Given the description of an element on the screen output the (x, y) to click on. 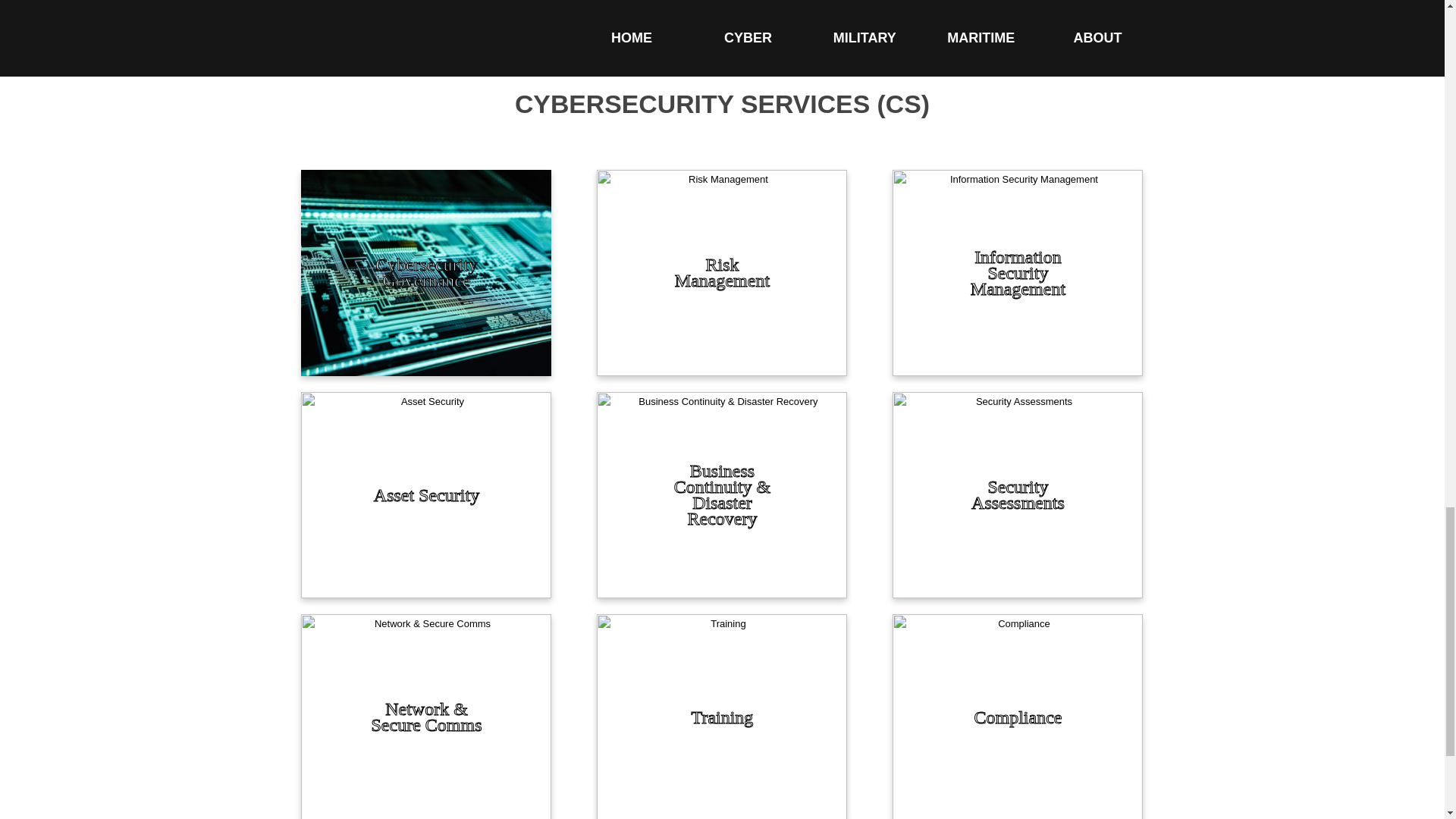
Compliance (1017, 716)
Training (721, 716)
Cybersecurity Governance (426, 272)
Asset Security (426, 495)
Security Assessments (1017, 495)
Risk Management (721, 272)
Information Security Management (1017, 272)
